Given the description of an element on the screen output the (x, y) to click on. 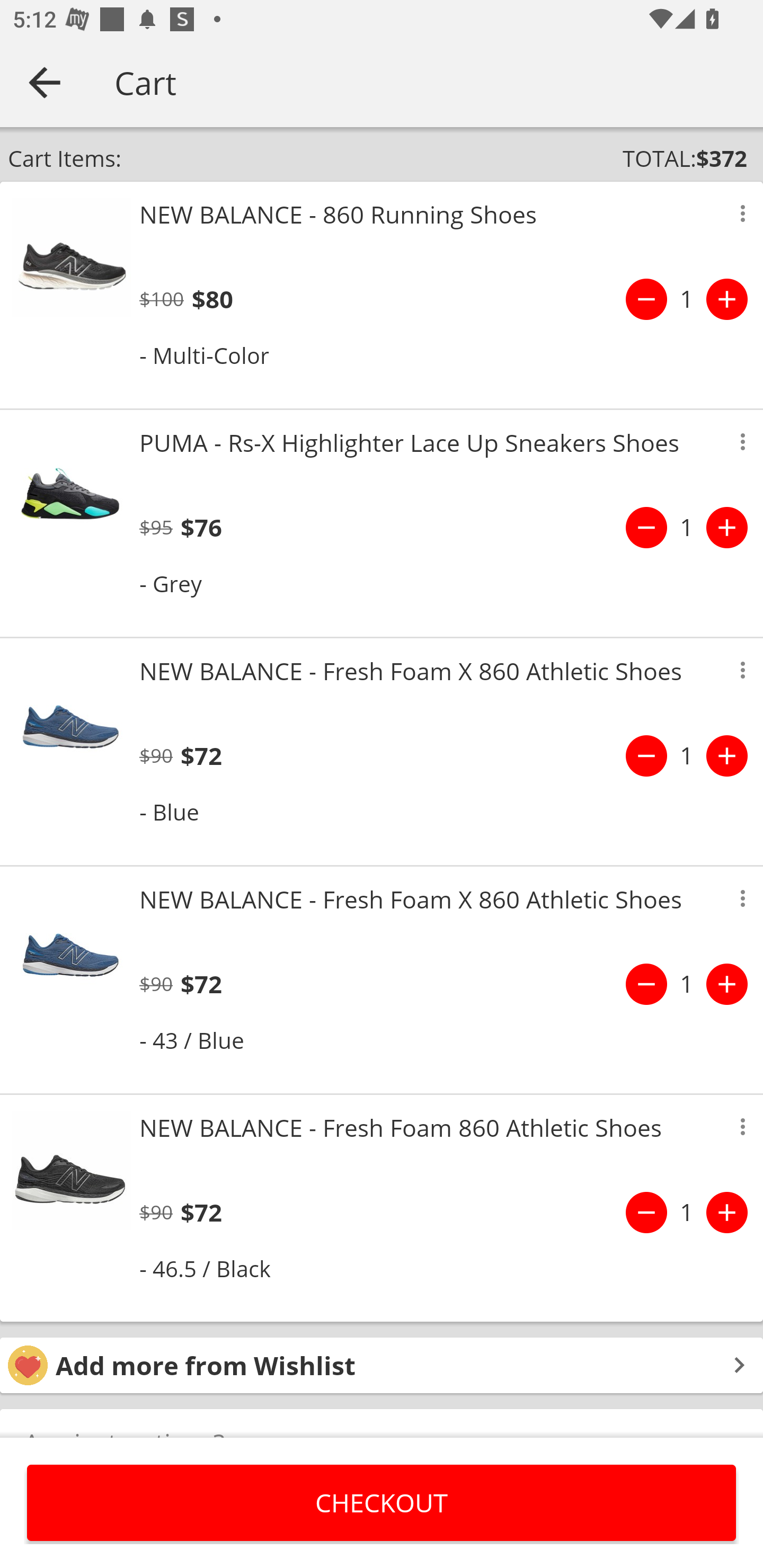
Navigate up (44, 82)
1 (686, 299)
1 (686, 527)
1 (686, 755)
1 (686, 984)
1 (686, 1211)
Add more from Wishlist (381, 1365)
CHECKOUT (381, 1502)
